Given the description of an element on the screen output the (x, y) to click on. 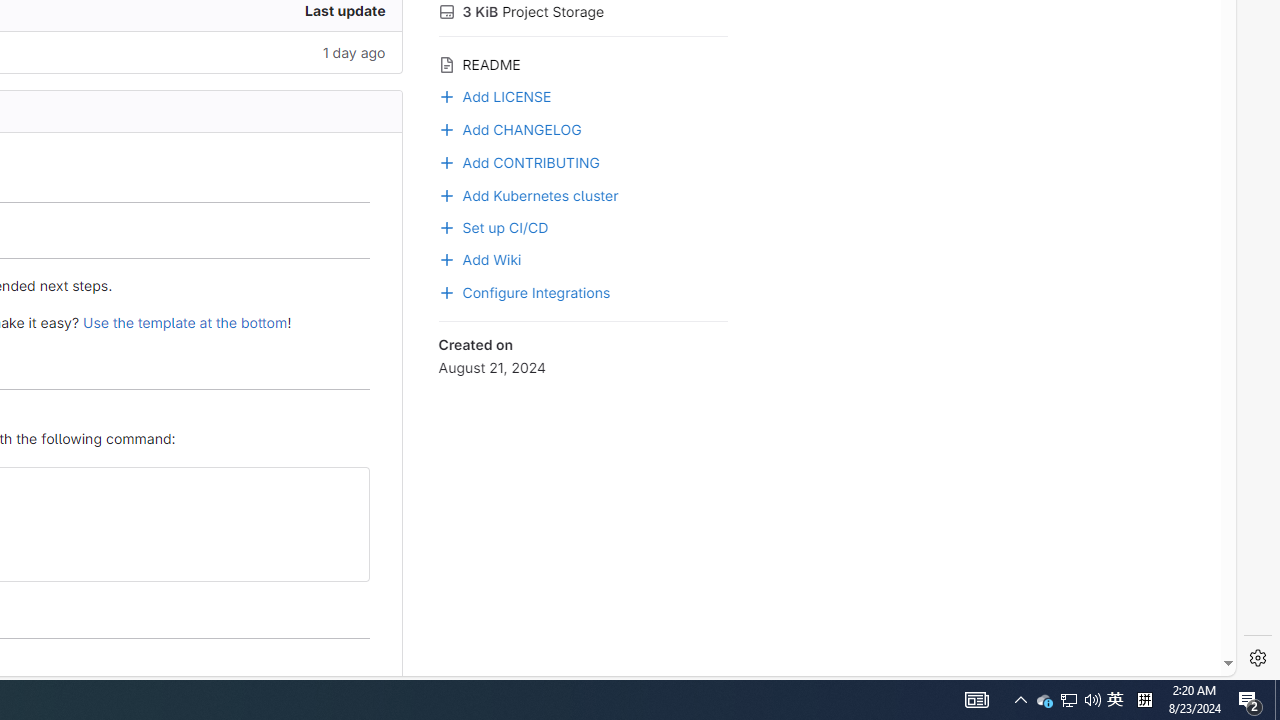
README (582, 62)
Configure Integrations (523, 291)
Class: s16 icon gl-mr-3 gl-text-gray-500 (445, 64)
Add CHANGELOG (582, 128)
Class: s16 gl-blue-500! gl-mr-3 (445, 292)
Add Wiki (479, 258)
README (582, 62)
Add Kubernetes cluster (528, 194)
Add CHANGELOG (509, 127)
